Given the description of an element on the screen output the (x, y) to click on. 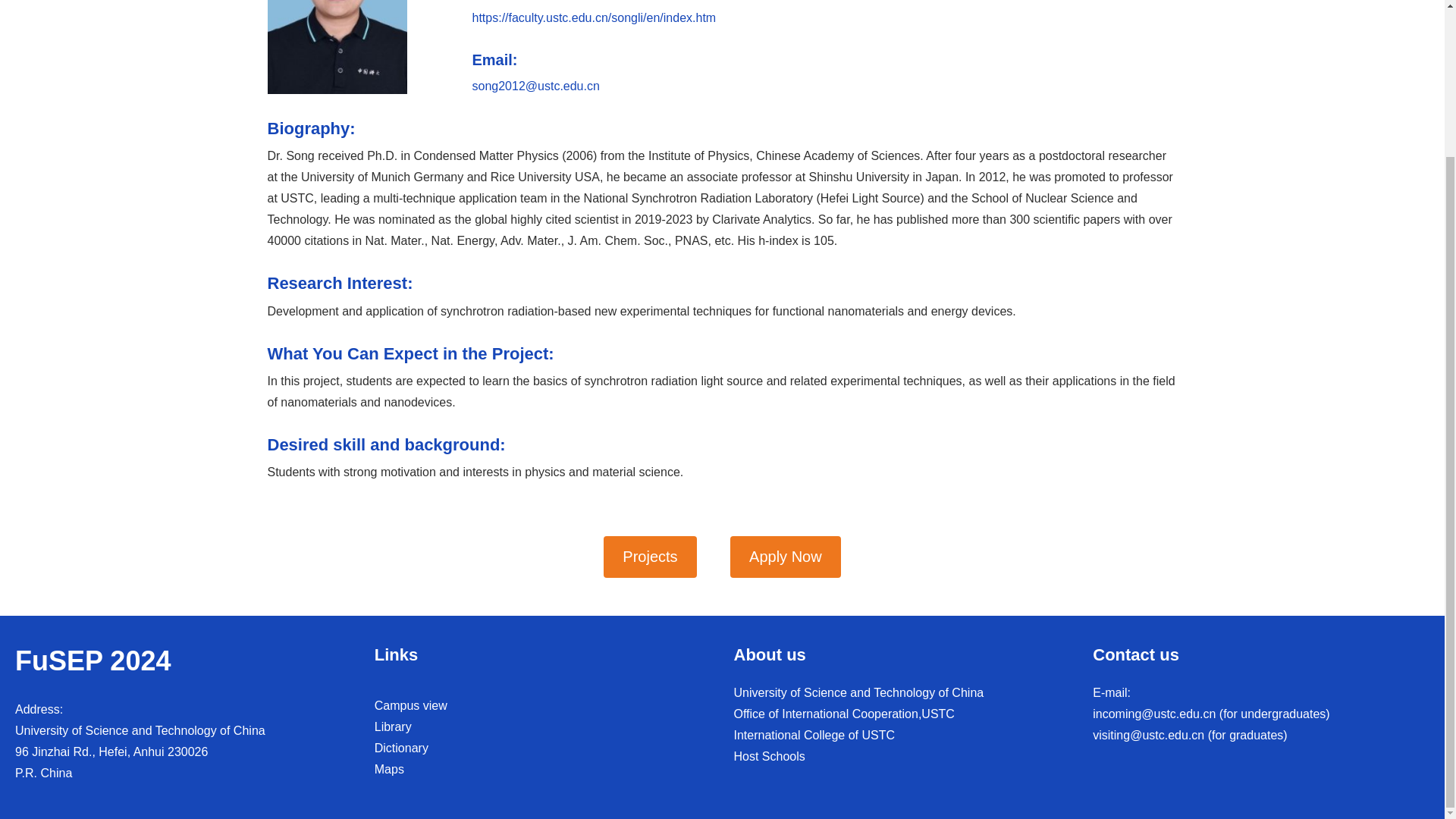
Library (393, 726)
Projects (649, 557)
Office of International Cooperation,USTC (844, 713)
Campus view (410, 705)
Host Schools (769, 756)
Dictionary (401, 748)
University of Science and Technology of China (858, 692)
Maps (389, 768)
International College of USTC (814, 735)
Apply Now (785, 557)
